Given the description of an element on the screen output the (x, y) to click on. 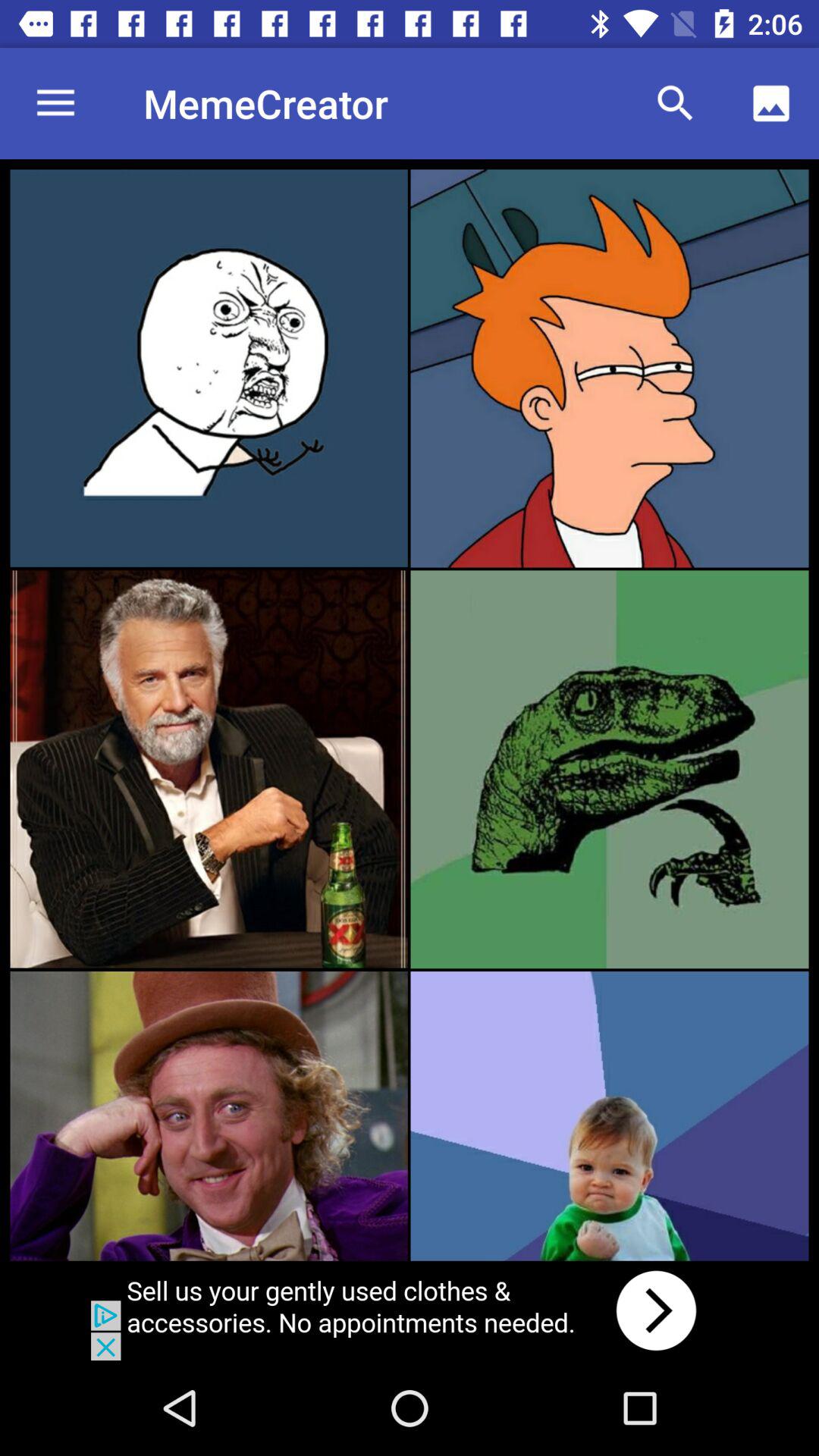
choose meme template (609, 1115)
